Given the description of an element on the screen output the (x, y) to click on. 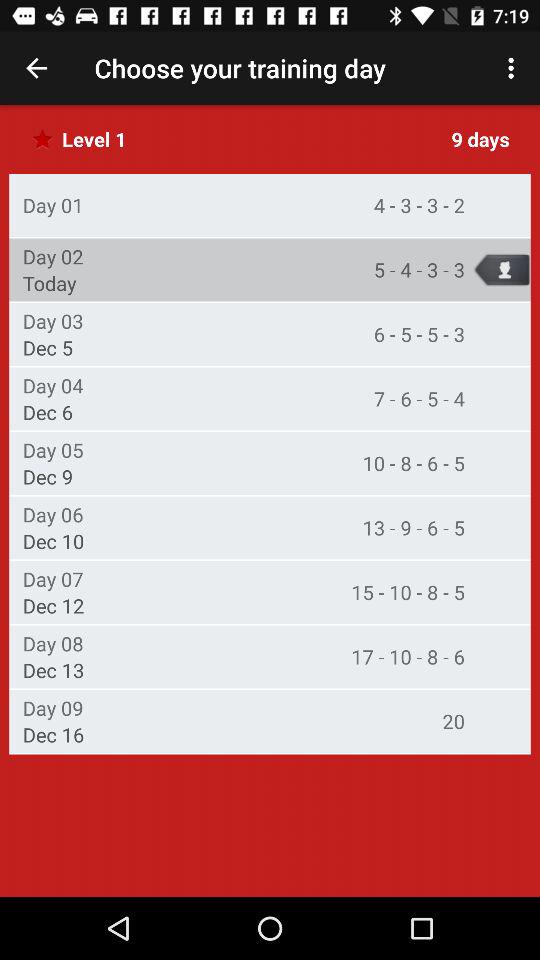
choose the dec 10 (53, 541)
